Given the description of an element on the screen output the (x, y) to click on. 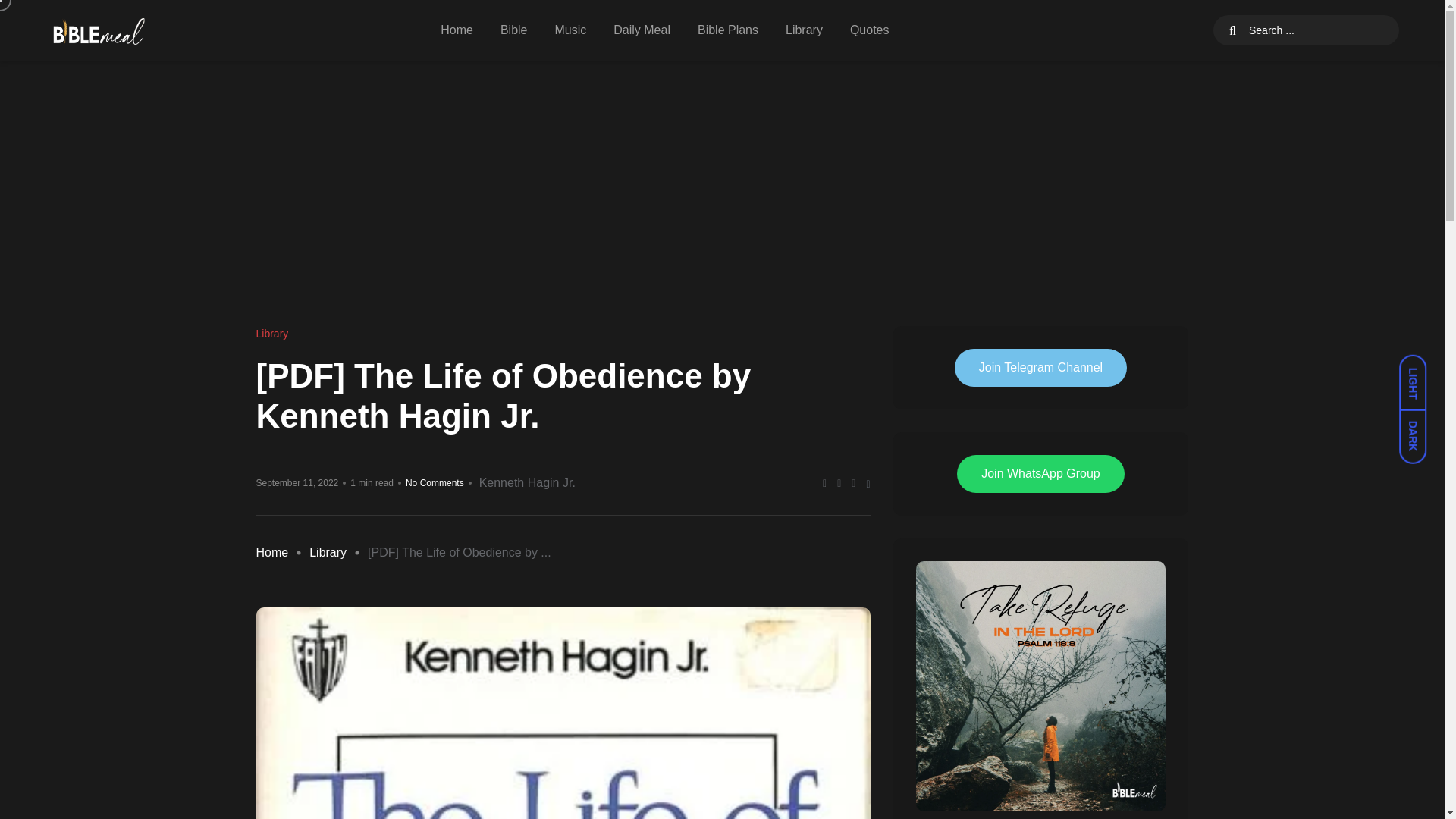
Light Mode (1420, 375)
Home (272, 552)
Dark Mode (1419, 428)
Library (272, 333)
No Comments (435, 482)
Biblemeal (98, 30)
Kenneth Hagin Jr. (527, 483)
Daily Meal (640, 30)
Bible Plans (727, 30)
